Given the description of an element on the screen output the (x, y) to click on. 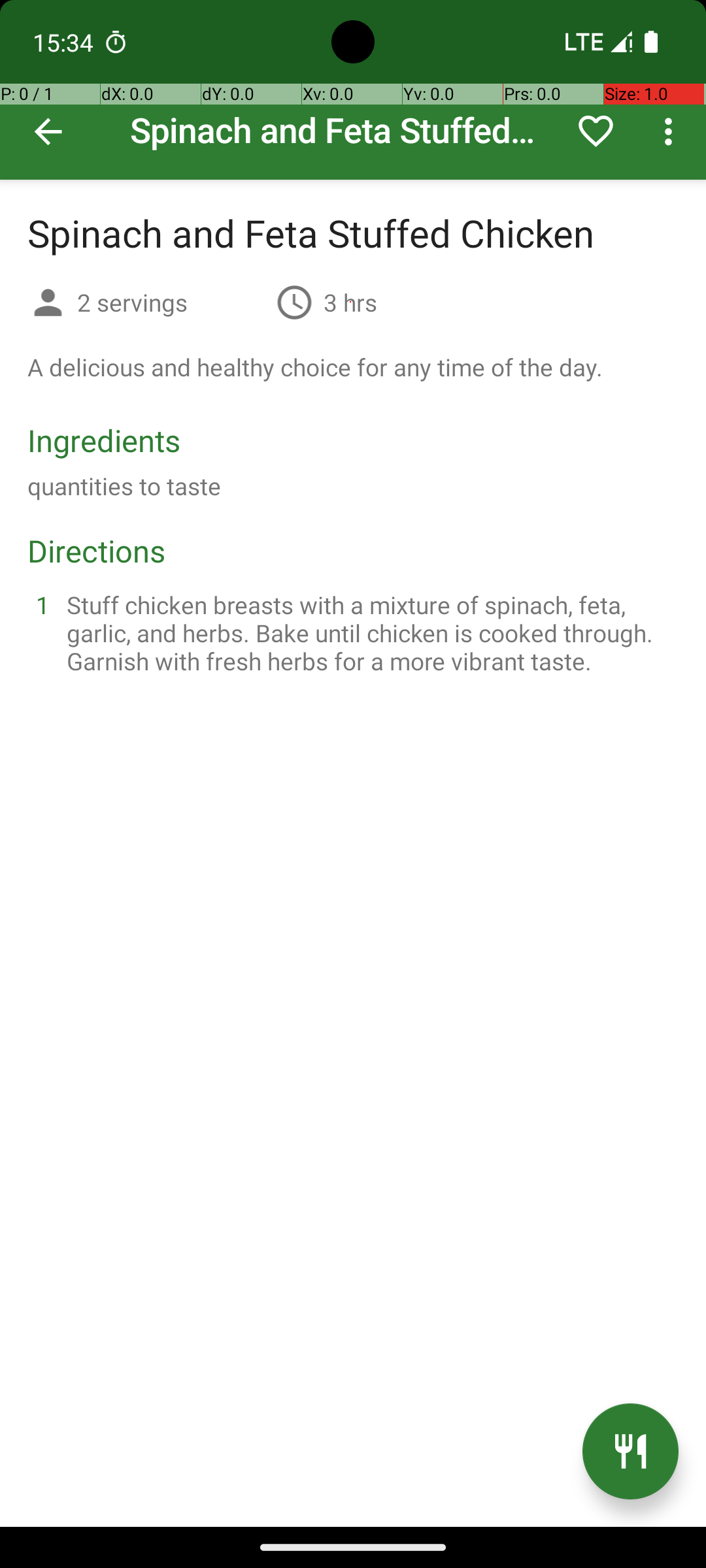
Spinach and Feta Stuffed Chicken Element type: android.widget.FrameLayout (353, 89)
Stuff chicken breasts with a mixture of spinach, feta, garlic, and herbs. Bake until chicken is cooked through. Garnish with fresh herbs for a more vibrant taste. Element type: android.widget.TextView (368, 632)
